Given the description of an element on the screen output the (x, y) to click on. 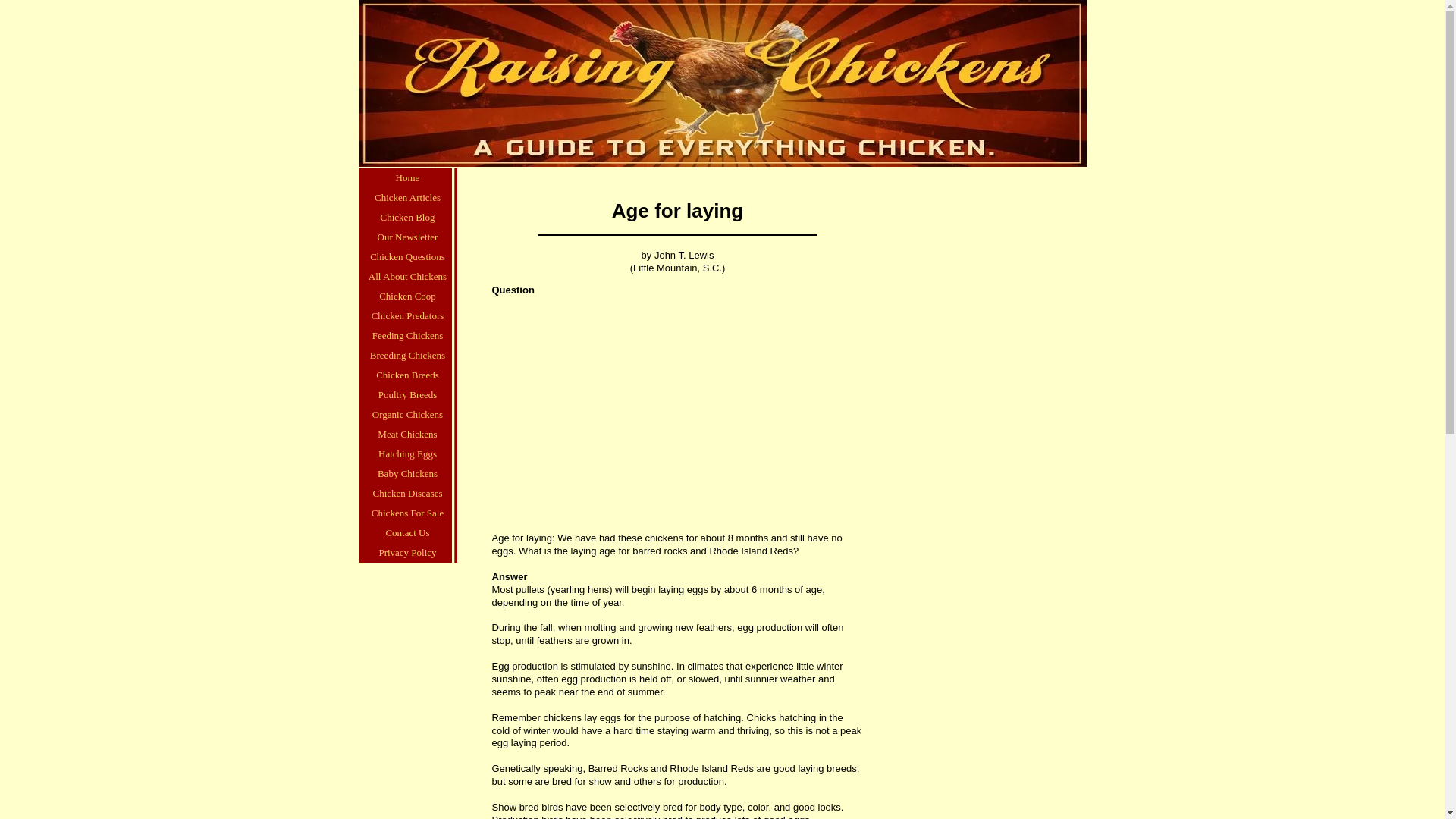
Baby Chickens (407, 474)
Organic Chickens (407, 414)
Chickens For Sale (407, 513)
Breeding Chickens (407, 355)
Chicken Blog (407, 217)
Hatching Eggs (407, 454)
Chicken Questions (407, 256)
Chicken Predators (407, 315)
Chicken Breeds (407, 374)
Chicken Articles (407, 198)
